Given the description of an element on the screen output the (x, y) to click on. 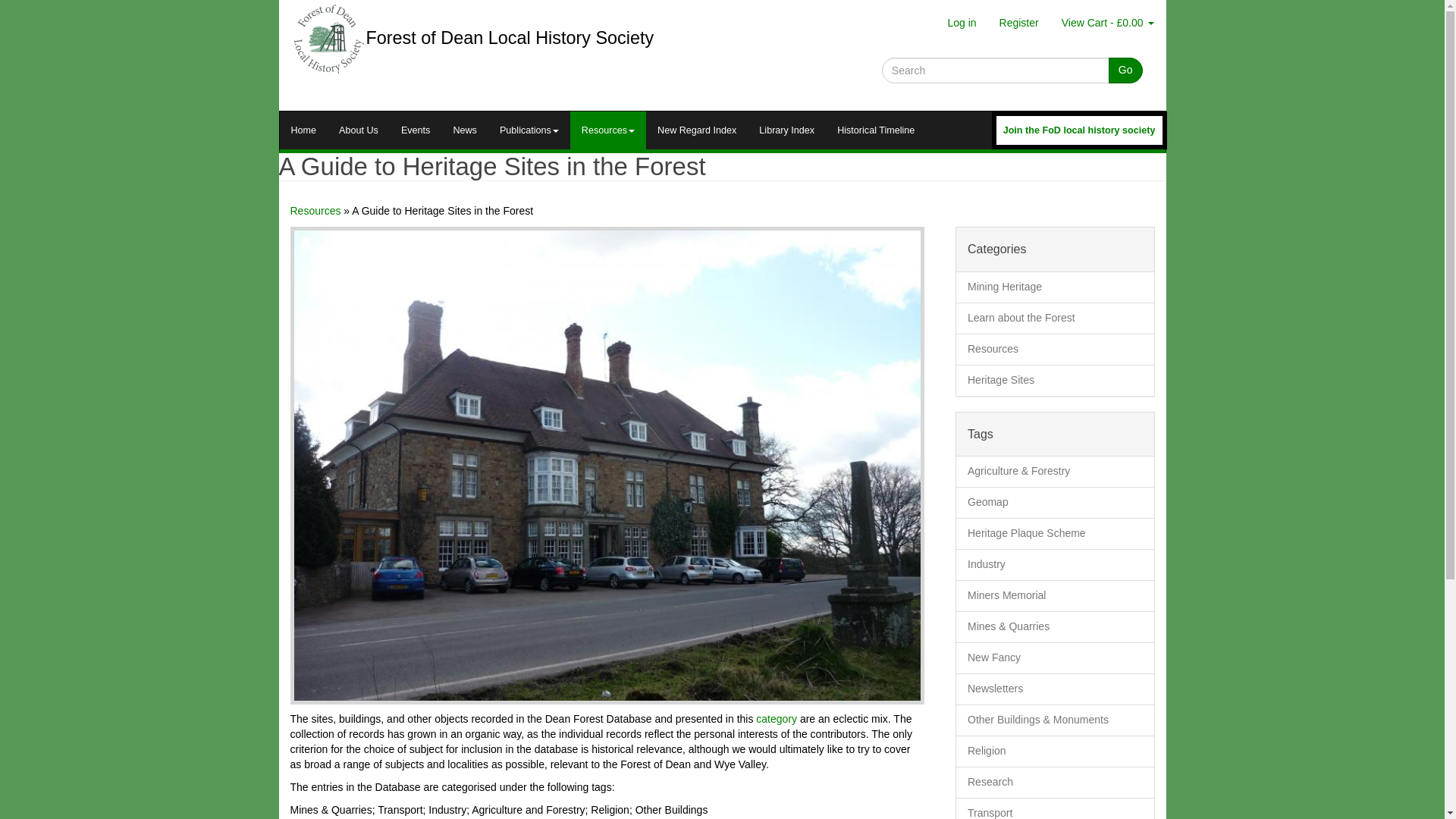
Learn about the Forest (1021, 317)
About Us (358, 130)
New Regard Index (697, 130)
Resources (314, 210)
Join the FoD local history society (1079, 130)
Heritage Timeline of the Forest of Dean (875, 130)
News (464, 130)
Join the FoD local history society (1079, 130)
Home (303, 130)
Events (416, 130)
Go (1125, 70)
Resources (608, 130)
About Us (358, 130)
Log in (961, 22)
Heritage Sites (1000, 379)
